Given the description of an element on the screen output the (x, y) to click on. 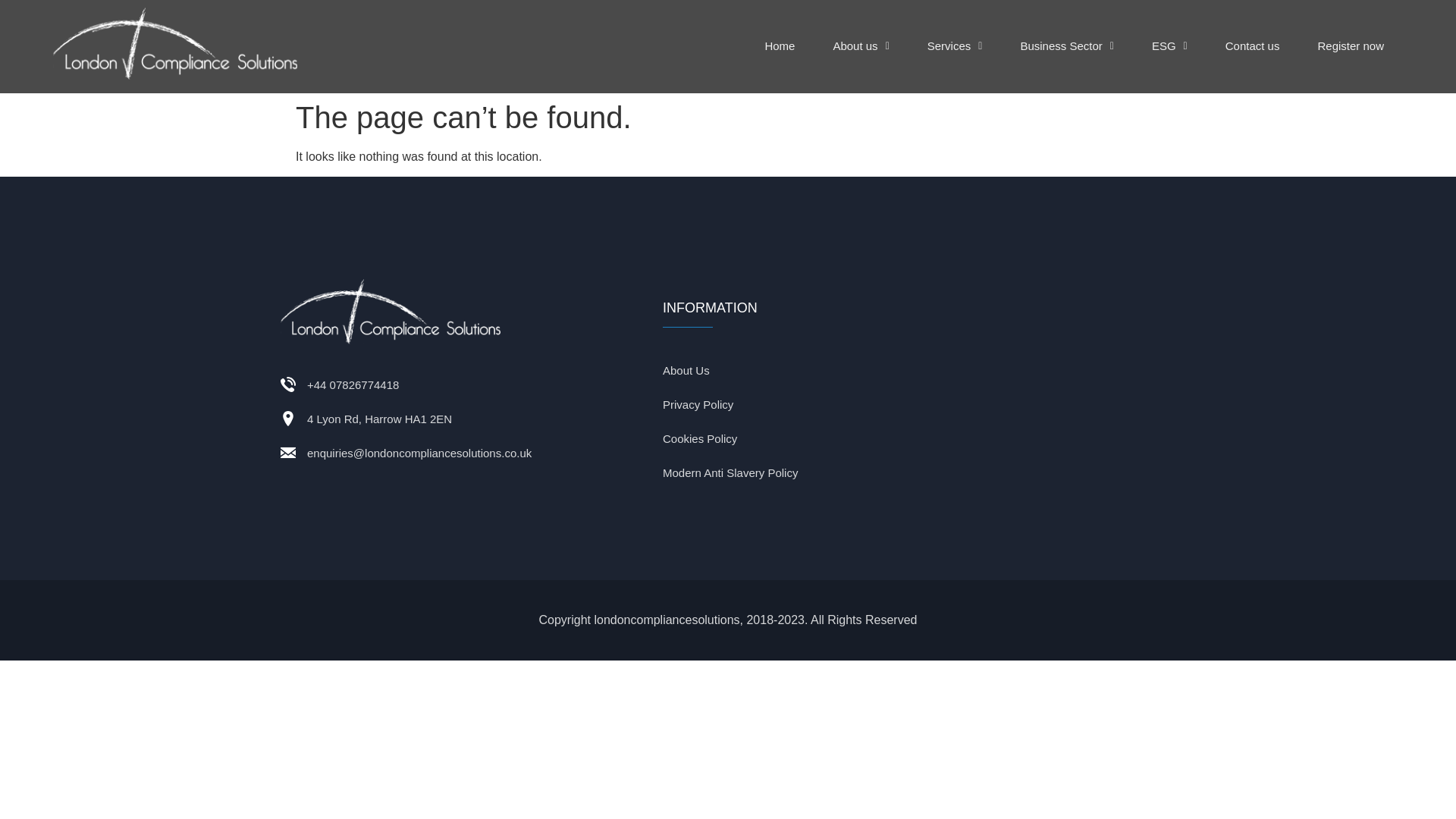
Home (779, 46)
About us (860, 46)
